Given the description of an element on the screen output the (x, y) to click on. 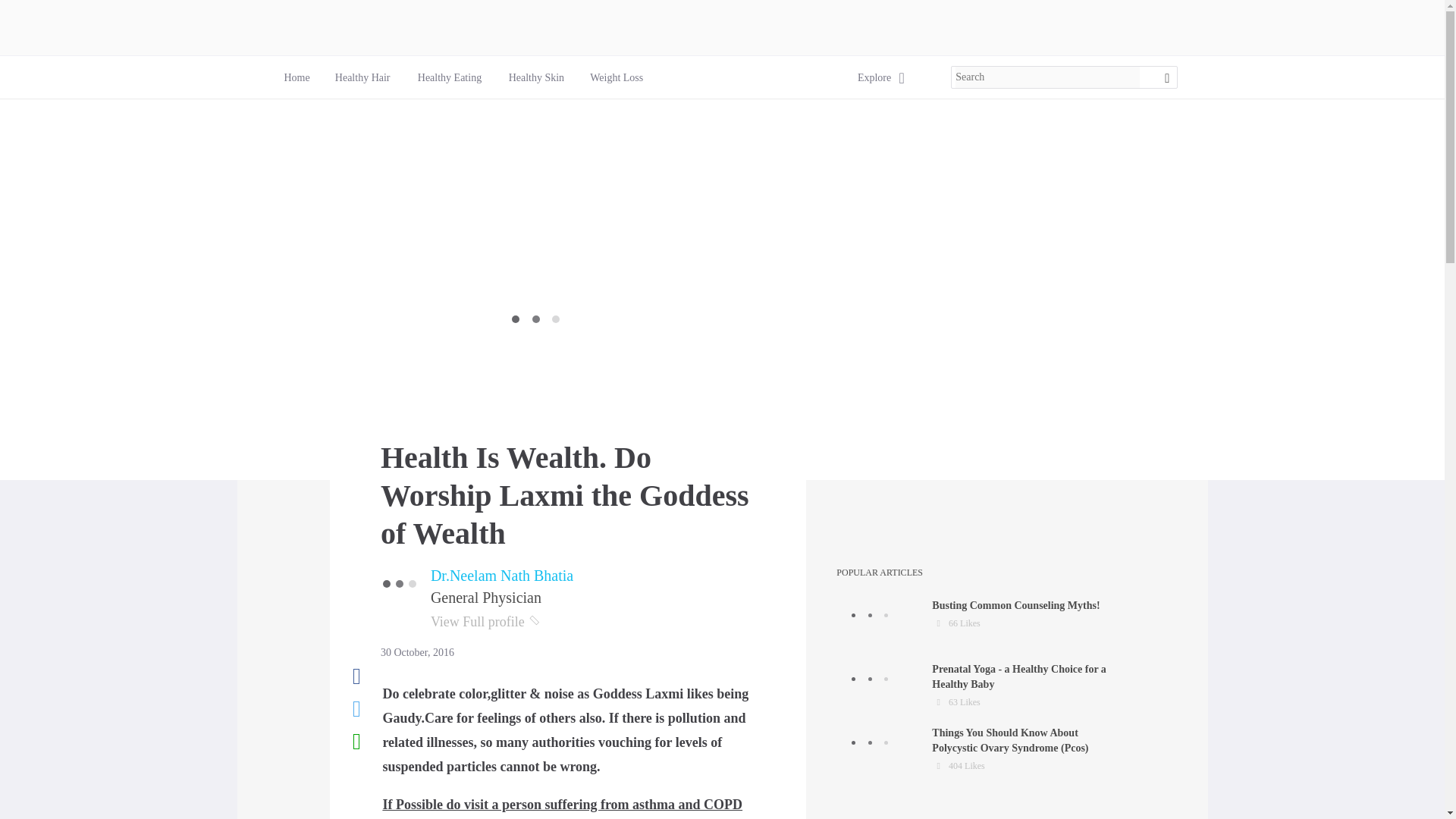
Healthy Eating (977, 622)
Healthy Eating (449, 77)
Healthy Hair (450, 77)
Home (362, 77)
Healthy Hair (295, 77)
Healthy Skin (362, 77)
Healthy Skin (535, 77)
Dr.Neelam Nath Bhatia (536, 77)
Weight Loss (977, 686)
Explore (501, 575)
Weight Loss (616, 77)
